Given the description of an element on the screen output the (x, y) to click on. 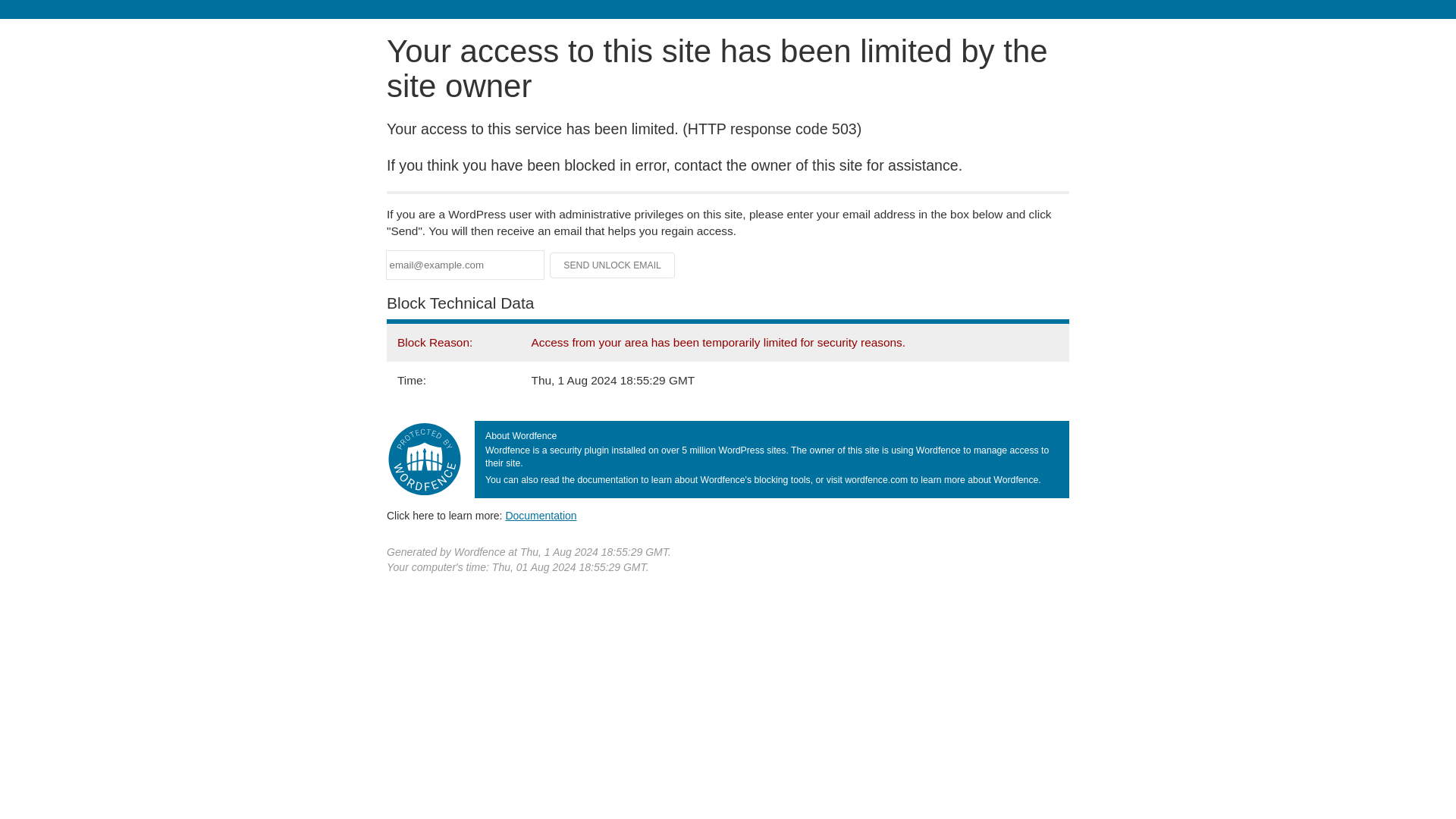
Send Unlock Email (612, 265)
Documentation (540, 515)
Send Unlock Email (612, 265)
